Given the description of an element on the screen output the (x, y) to click on. 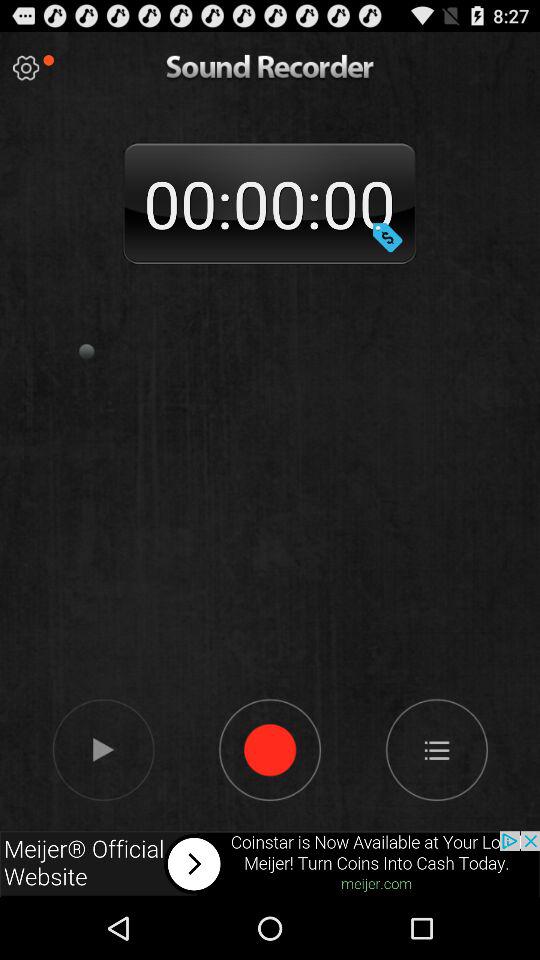
show menu (436, 749)
